Given the description of an element on the screen output the (x, y) to click on. 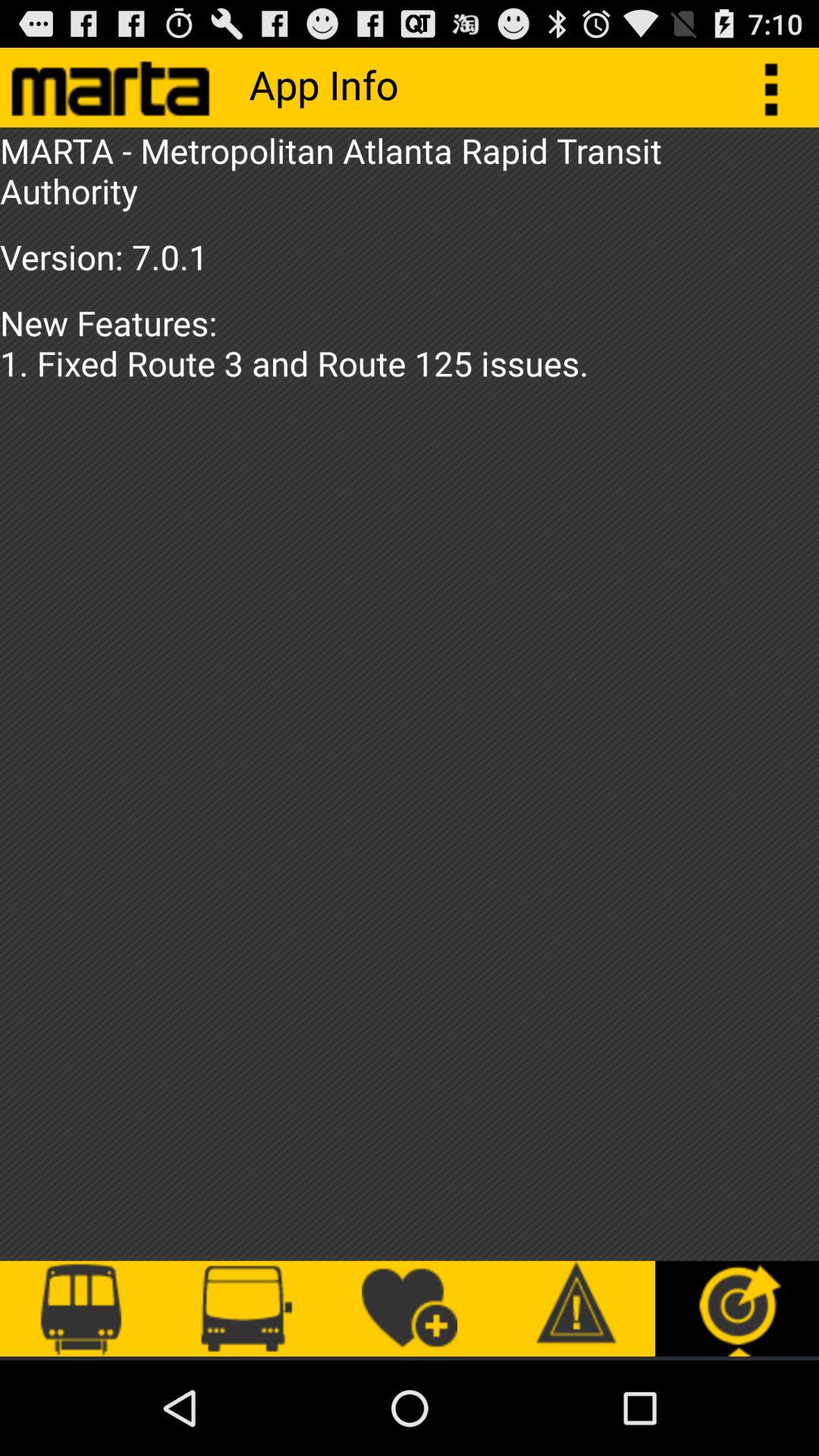
choose the item above the marta metropolitan atlanta icon (779, 87)
